Given the description of an element on the screen output the (x, y) to click on. 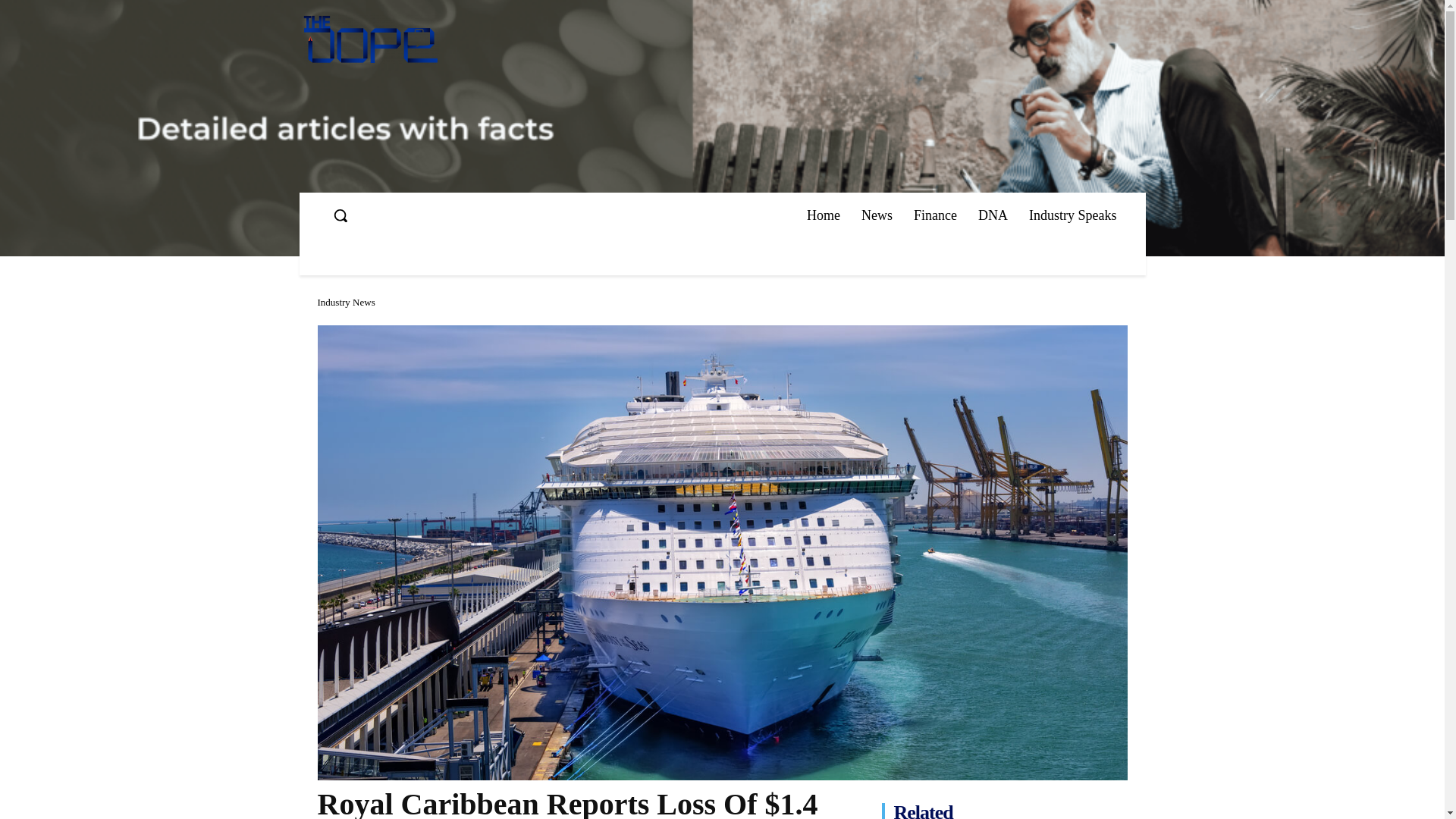
Finance (935, 215)
News (876, 215)
Home (823, 215)
DNA (992, 215)
Industry Speaks (1071, 215)
Industry News (345, 302)
